Given the description of an element on the screen output the (x, y) to click on. 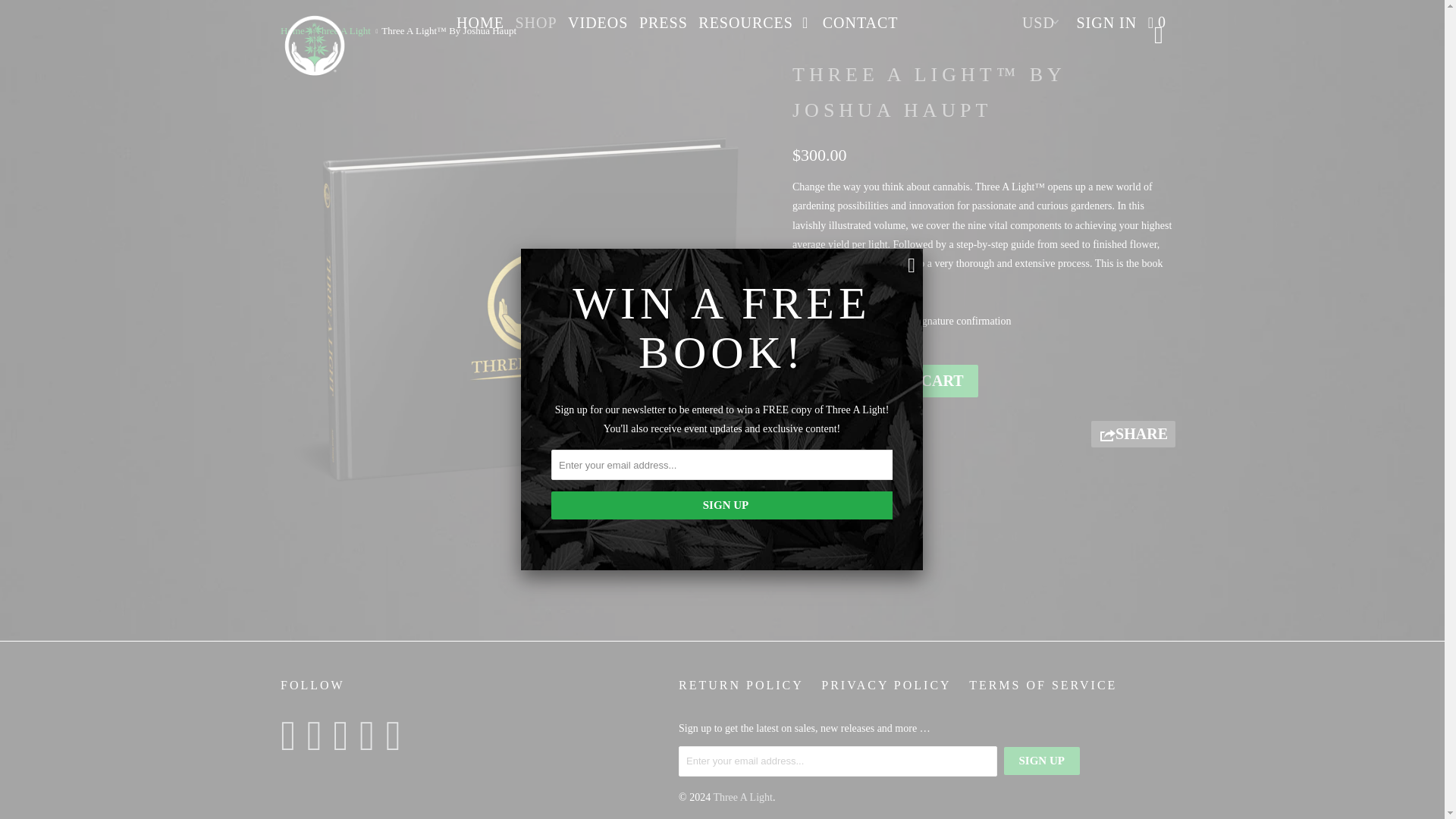
My Account  (1106, 22)
Three A Light (343, 30)
CONTACT (860, 22)
0 (1158, 22)
Three A Light (358, 45)
RESOURCES   (754, 22)
SHOP (535, 22)
VIDEOS (597, 22)
Three A Light (343, 30)
Three A Light (292, 30)
